Given the description of an element on the screen output the (x, y) to click on. 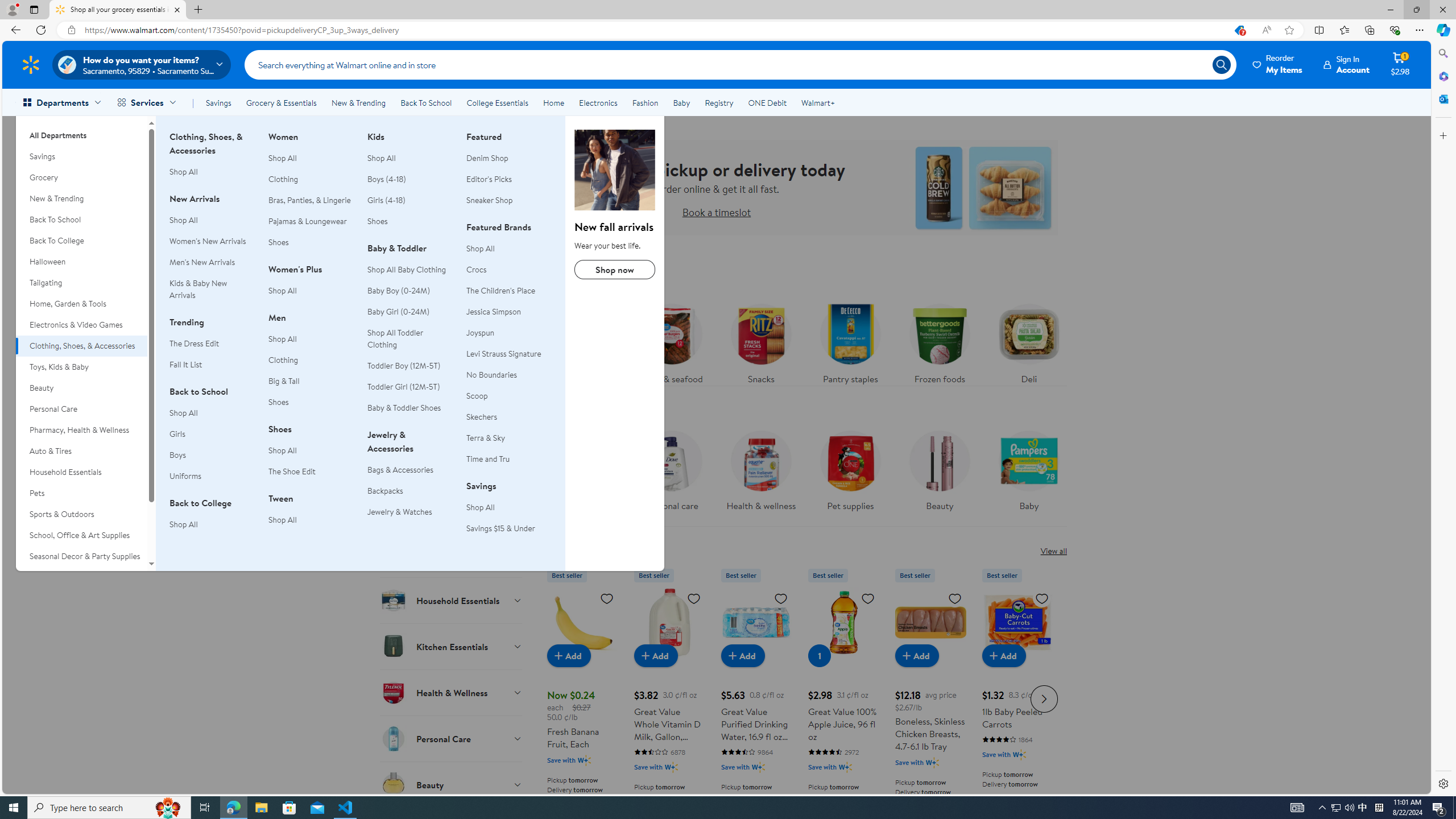
Savings $15 & Under (508, 528)
Tailgating (81, 282)
FeaturedDenim ShopEditor's PicksSneaker Shop (508, 174)
Skechers (508, 417)
Women's PlusShop All (310, 286)
New & Trending (81, 198)
Tailgating (81, 282)
ONE Debit (767, 102)
Baby Girl (0-24M) (397, 311)
